Given the description of an element on the screen output the (x, y) to click on. 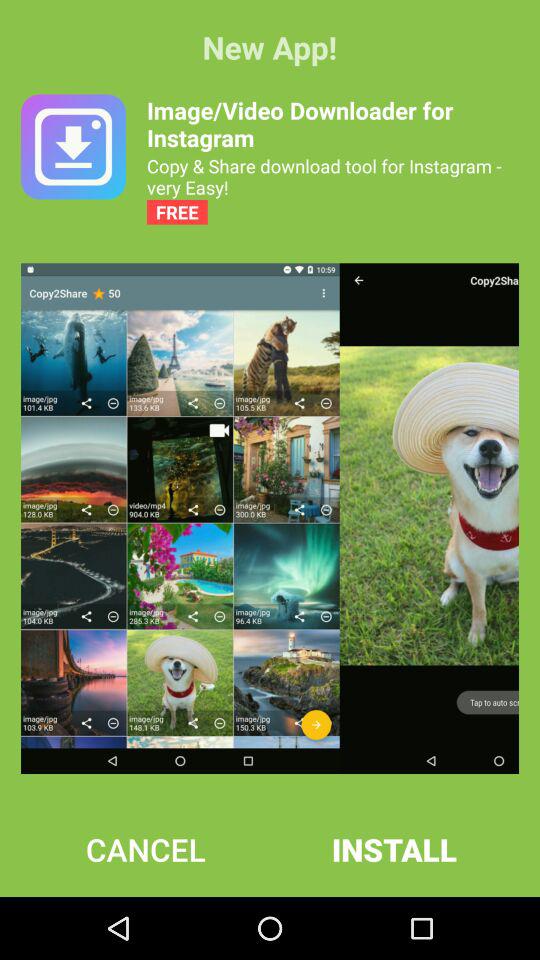
choose the install at the bottom right corner (394, 849)
